Given the description of an element on the screen output the (x, y) to click on. 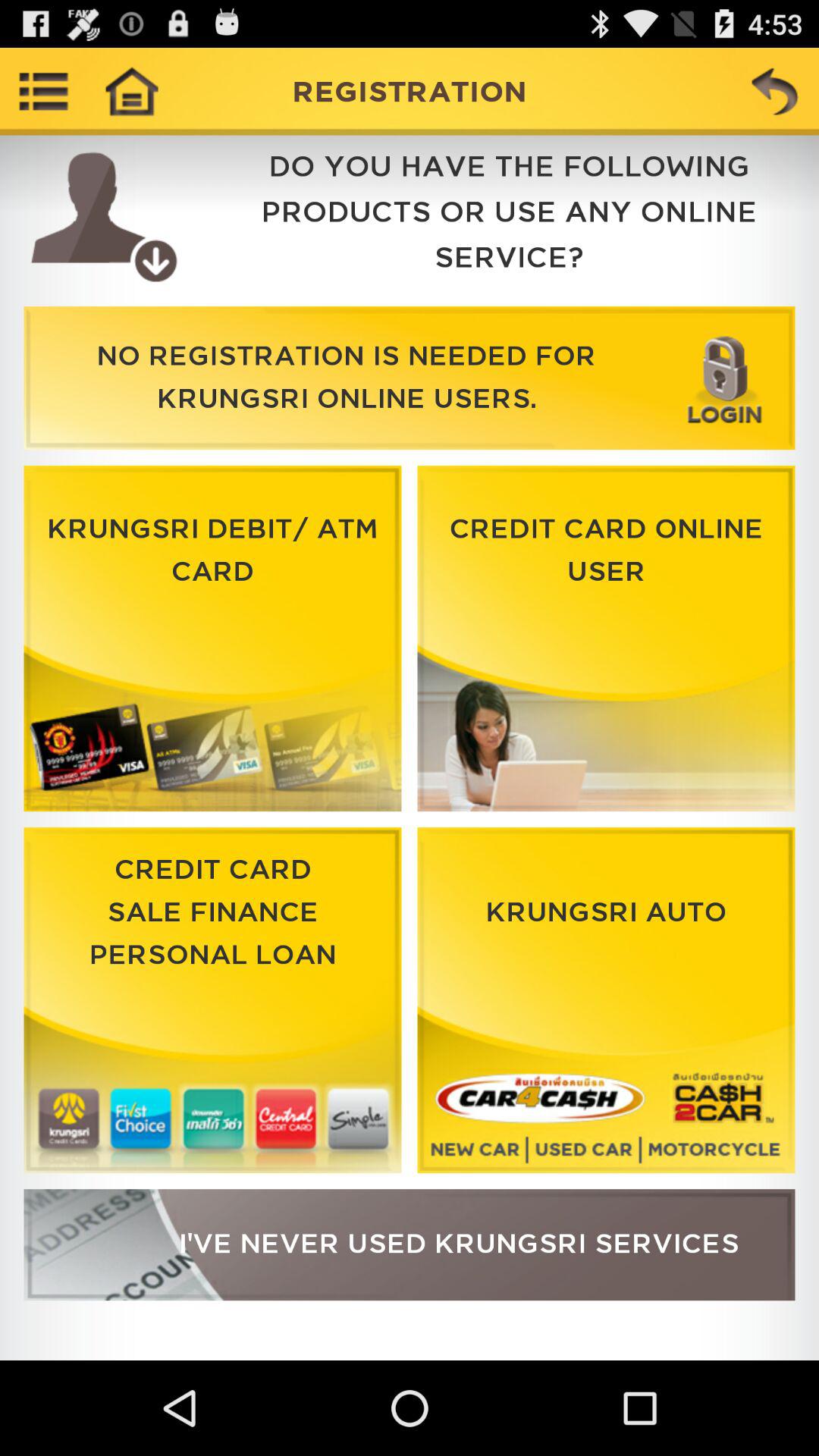
click on option (606, 1000)
